Given the description of an element on the screen output the (x, y) to click on. 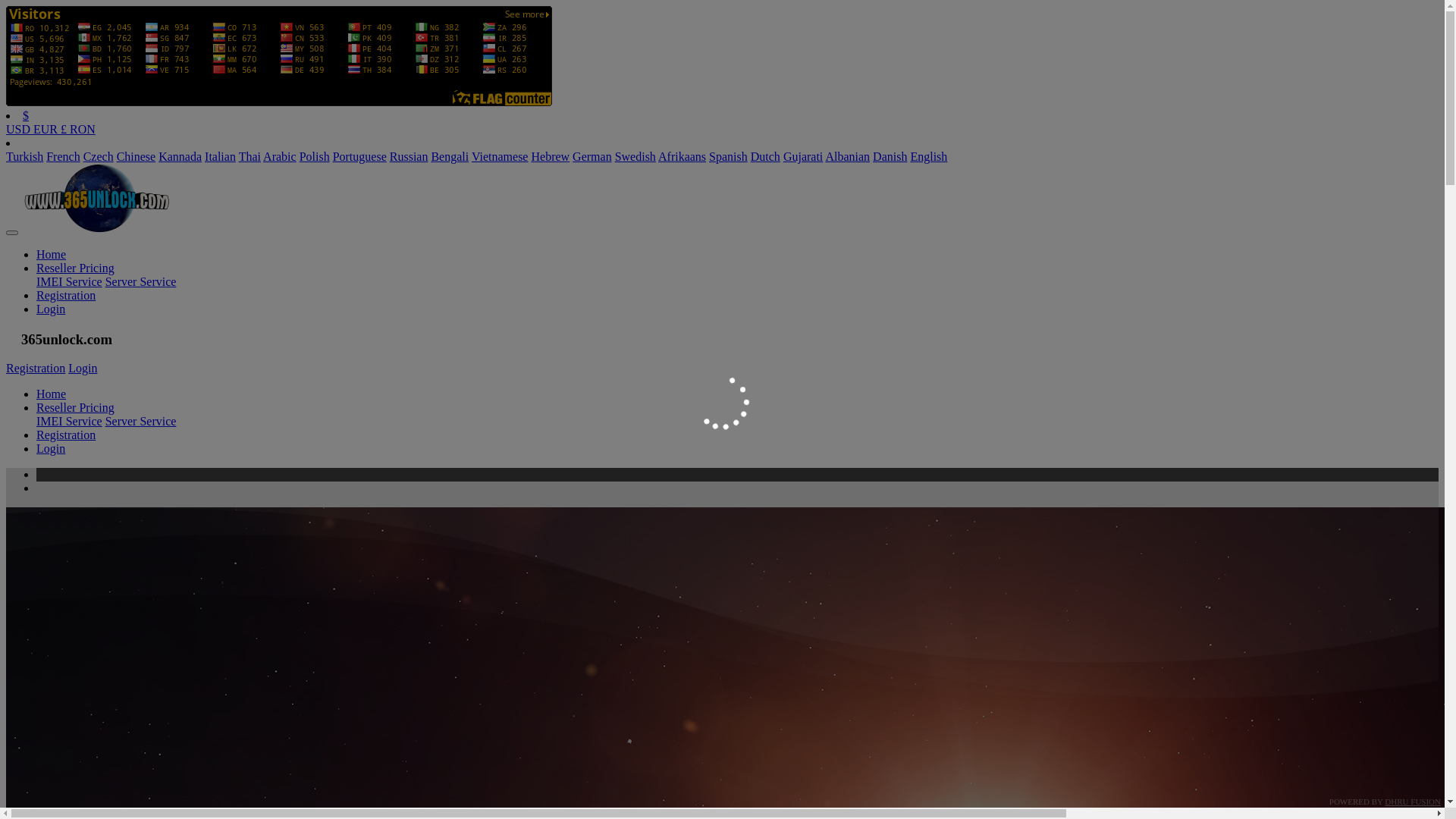
Italian Element type: text (219, 156)
Home Element type: text (50, 393)
Login Element type: text (50, 448)
Reseller Pricing Element type: text (75, 267)
German Element type: text (591, 156)
Bengali Element type: text (449, 156)
Registration Element type: text (35, 367)
Portuguese Element type: text (359, 156)
Danish Element type: text (889, 156)
Hebrew Element type: text (549, 156)
Kannada Element type: text (179, 156)
Turkish Element type: text (24, 156)
Server Service Element type: text (140, 420)
Albanian Element type: text (847, 156)
IMEI Service Element type: text (69, 281)
Registration Element type: text (65, 294)
Reseller Pricing Element type: text (75, 407)
USD Element type: text (19, 128)
DHRU FUSION Element type: text (1412, 801)
Arabic Element type: text (279, 156)
Home Element type: text (50, 253)
Dutch Element type: text (765, 156)
Czech Element type: text (98, 156)
Afrikaans Element type: text (682, 156)
$ Element type: text (25, 115)
Thai Element type: text (249, 156)
Login Element type: text (82, 367)
Chinese Element type: text (136, 156)
French Element type: text (62, 156)
Swedish Element type: text (635, 156)
Registration Element type: text (65, 434)
English Element type: text (928, 156)
Vietnamese Element type: text (499, 156)
Server Service Element type: text (140, 281)
Spanish Element type: text (728, 156)
IMEI Service Element type: text (69, 420)
Gujarati Element type: text (802, 156)
Polish Element type: text (314, 156)
RON Element type: text (82, 128)
Russian Element type: text (408, 156)
Login Element type: text (50, 308)
EUR Element type: text (46, 128)
